Given the description of an element on the screen output the (x, y) to click on. 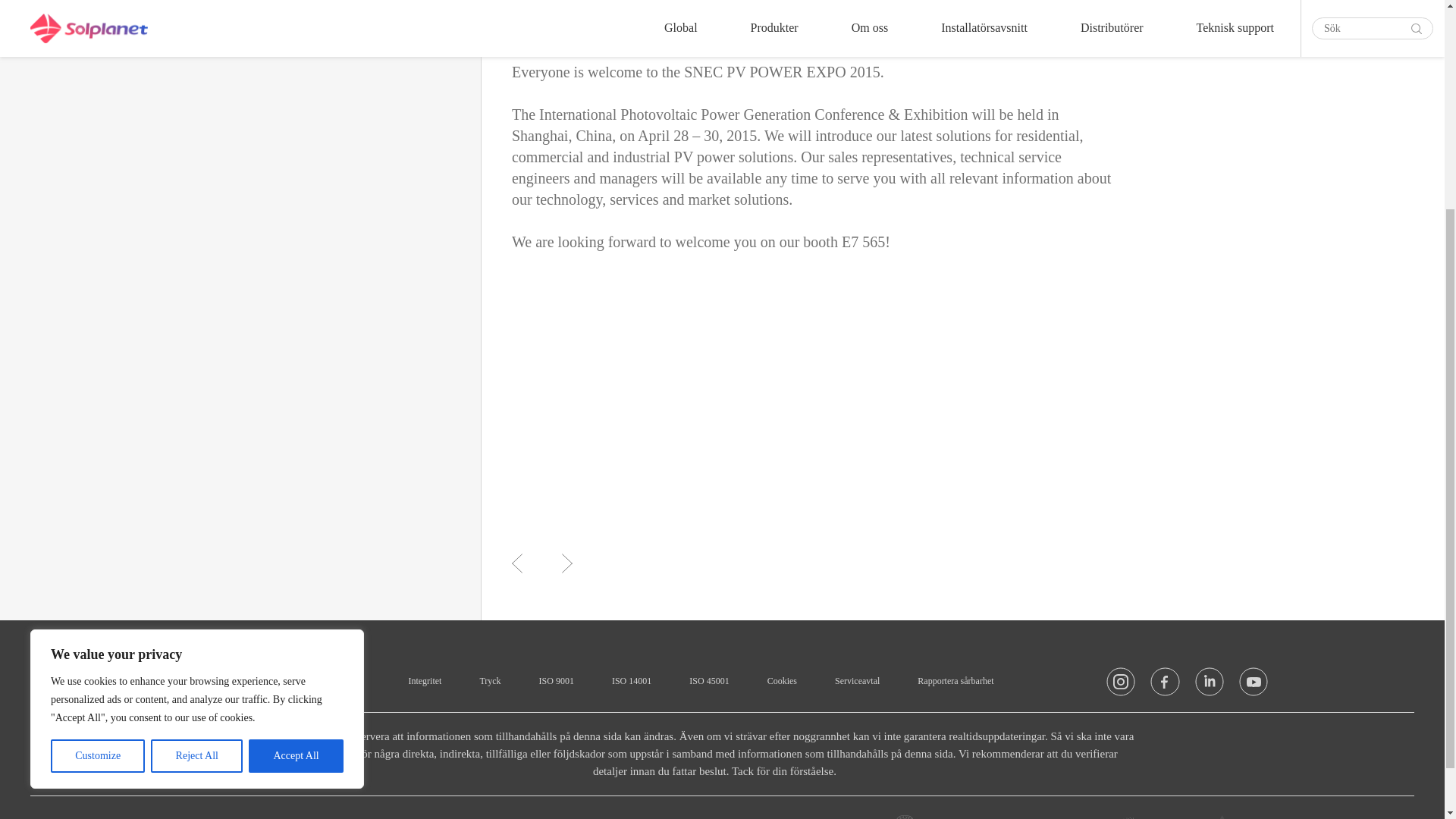
linkedin (1209, 685)
instagram (1120, 685)
Reject All (197, 464)
youtube (1253, 685)
facebook (1165, 685)
Customize (97, 464)
Accept All (295, 464)
